Given the description of an element on the screen output the (x, y) to click on. 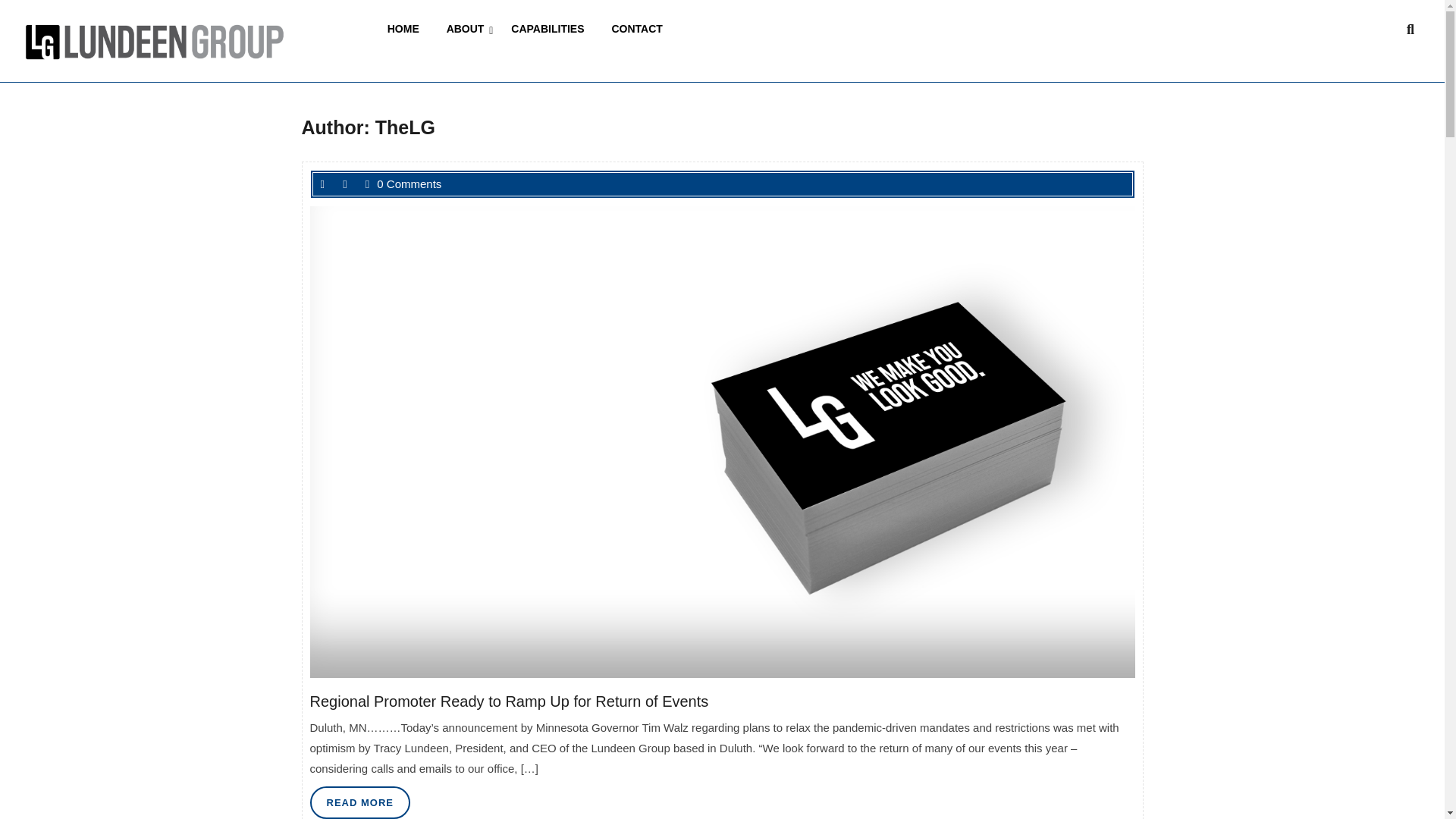
CONTACT (639, 28)
CAPABILITIES (550, 28)
ABOUT (468, 28)
HOME (358, 802)
READ MORE (405, 28)
